Given the description of an element on the screen output the (x, y) to click on. 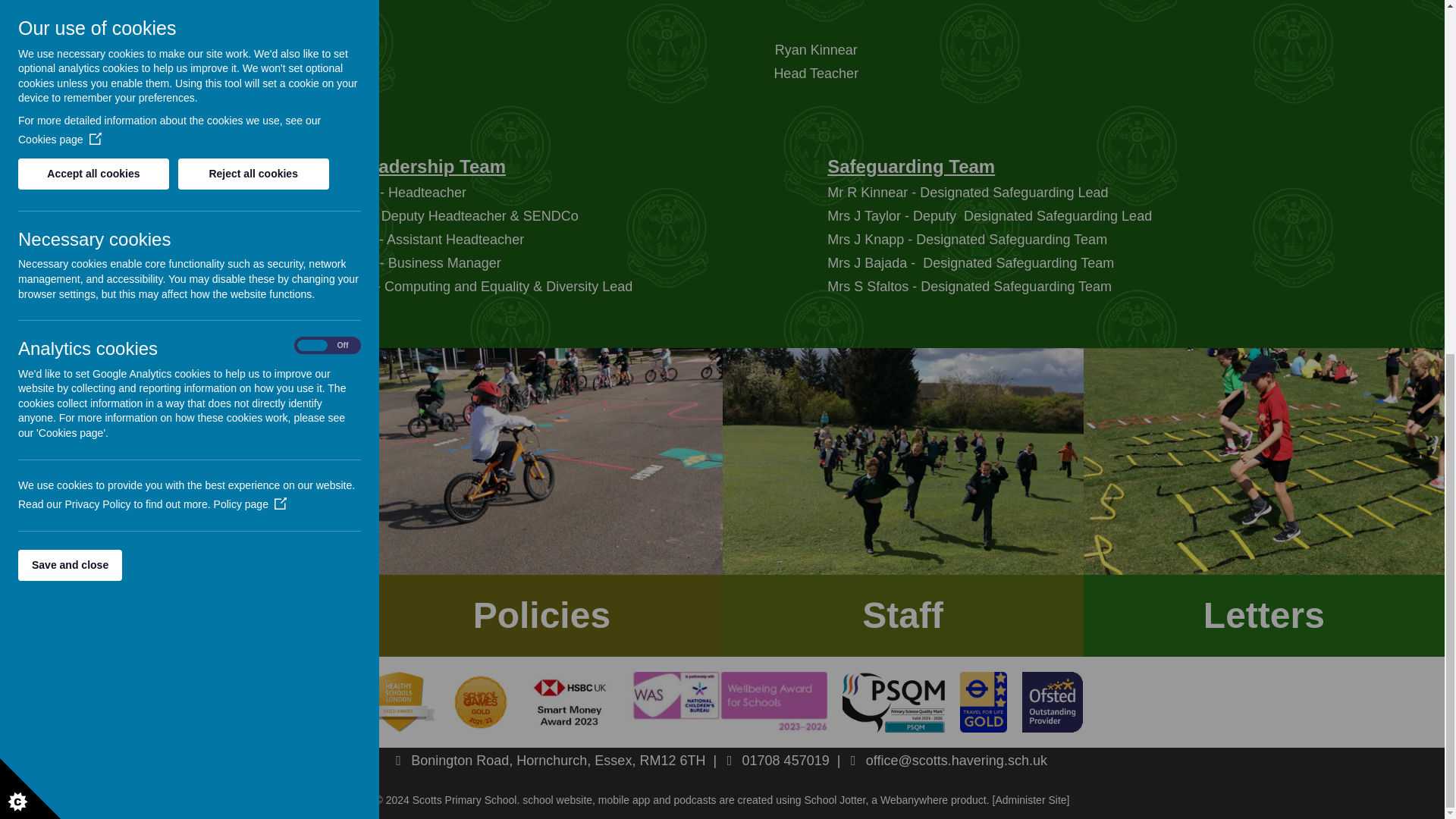
Cookie Control Icon (30, 170)
